Given the description of an element on the screen output the (x, y) to click on. 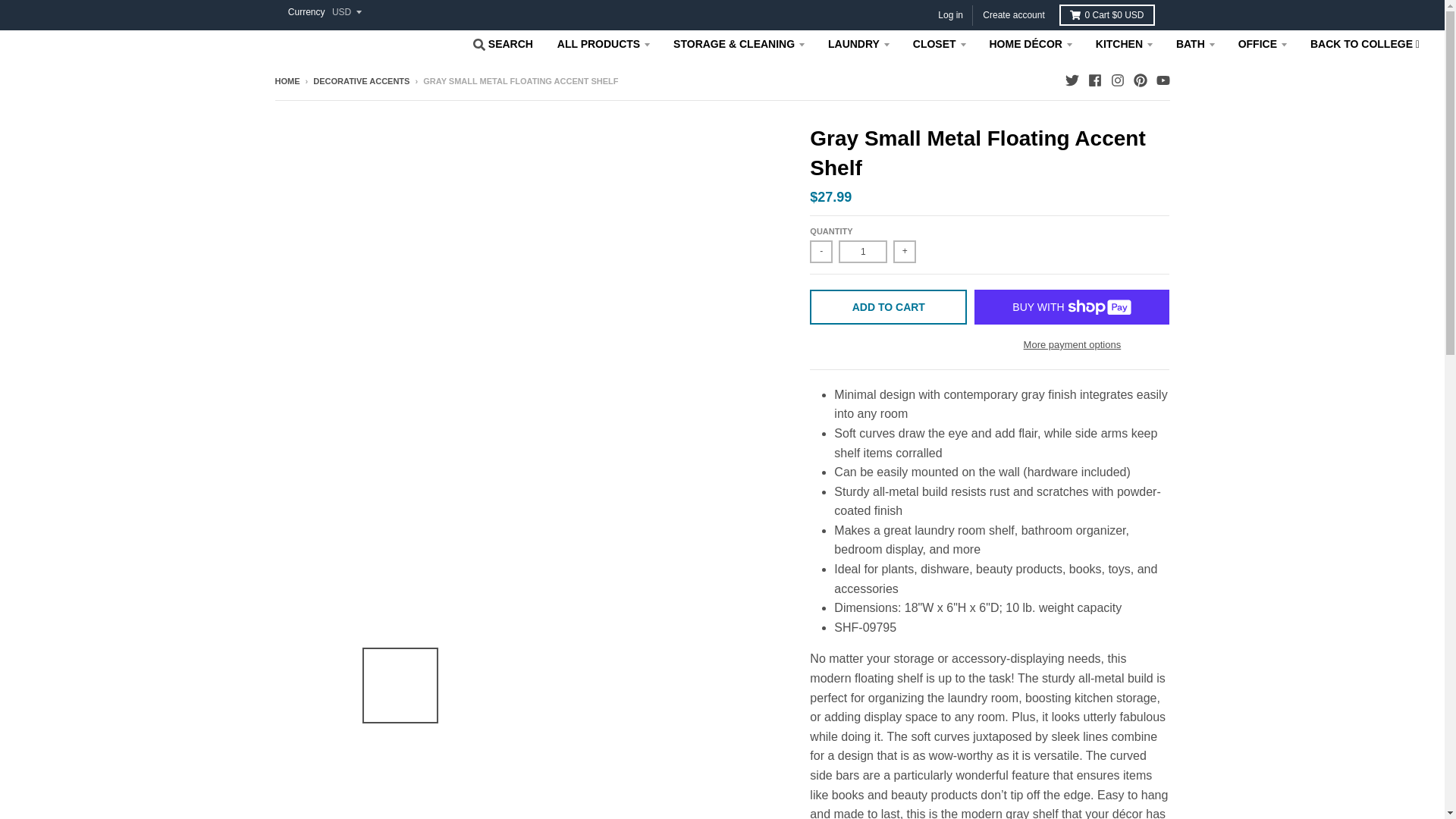
Twitter - honeycando.com (1071, 79)
Pinterest - honeycando.com (1139, 79)
Log in (950, 14)
ALL PRODUCTS (604, 43)
YouTube - honeycando.com (1162, 79)
1 (862, 251)
Create account (1013, 14)
Instagram - honeycando.com (1116, 79)
Facebook - honeycando.com (1093, 79)
SEARCH (501, 44)
LAUNDRY (858, 43)
CLOSET (939, 43)
Back to the frontpage (287, 80)
